Given the description of an element on the screen output the (x, y) to click on. 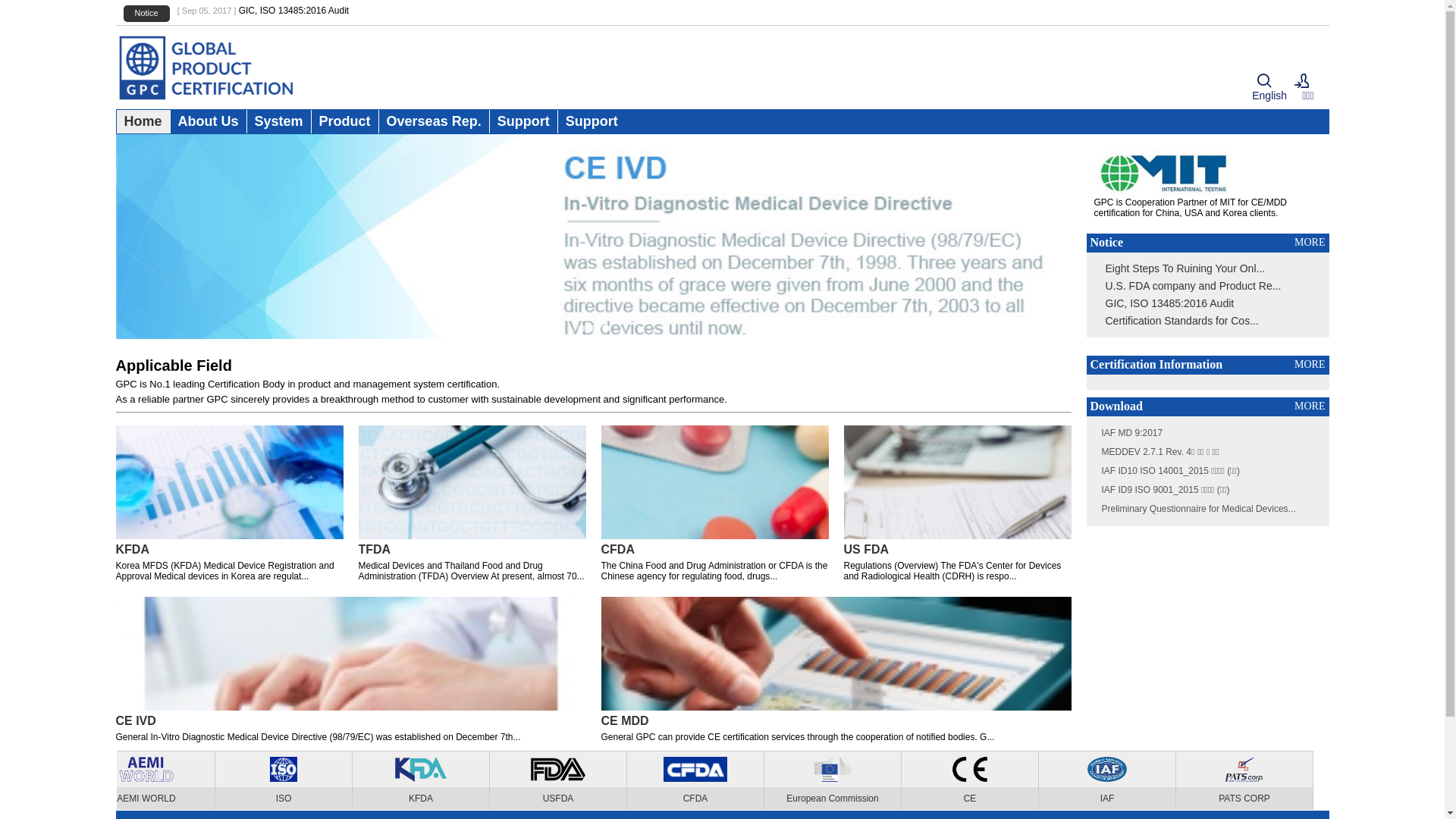
KFDA Element type: text (434, 780)
Preliminary Questionnaire for Medical Devices... Element type: text (1198, 508)
CE Element type: text (981, 780)
About Us Element type: text (208, 121)
MORE Element type: text (1309, 364)
Sign In/Sign Up Element type: text (1301, 81)
European Commission Element type: text (844, 780)
MORE Element type: text (1309, 406)
Eight Steps To Ruining Your Onl... Element type: text (1185, 268)
Overseas Rep. Element type: text (434, 121)
Certification Standards for Cos... Element type: text (1181, 320)
CE MDD Element type: text (835, 720)
Support Element type: text (523, 121)
Search Element type: text (1263, 81)
AEMI WORLD Element type: text (160, 780)
CFDA Element type: text (714, 549)
Product Element type: text (344, 121)
ISO Element type: text (297, 780)
MORE Element type: text (1309, 242)
CFDA Element type: text (707, 780)
GIC, ISO 13485:2016 Audit Element type: text (1169, 303)
KFDA Element type: text (228, 549)
US FDA Element type: text (956, 549)
Home Element type: text (142, 121)
IAF Element type: text (1118, 780)
TFDA Element type: text (471, 549)
IAF MD 9:2017 Element type: text (1131, 432)
USFDA Element type: text (570, 780)
U.S. FDA company and Product Re... Element type: text (1193, 285)
CE IVD Element type: text (350, 720)
Support Element type: text (591, 121)
System Element type: text (278, 121)
GIC, ISO 13485:2016 Audit Element type: text (293, 10)
